Given the description of an element on the screen output the (x, y) to click on. 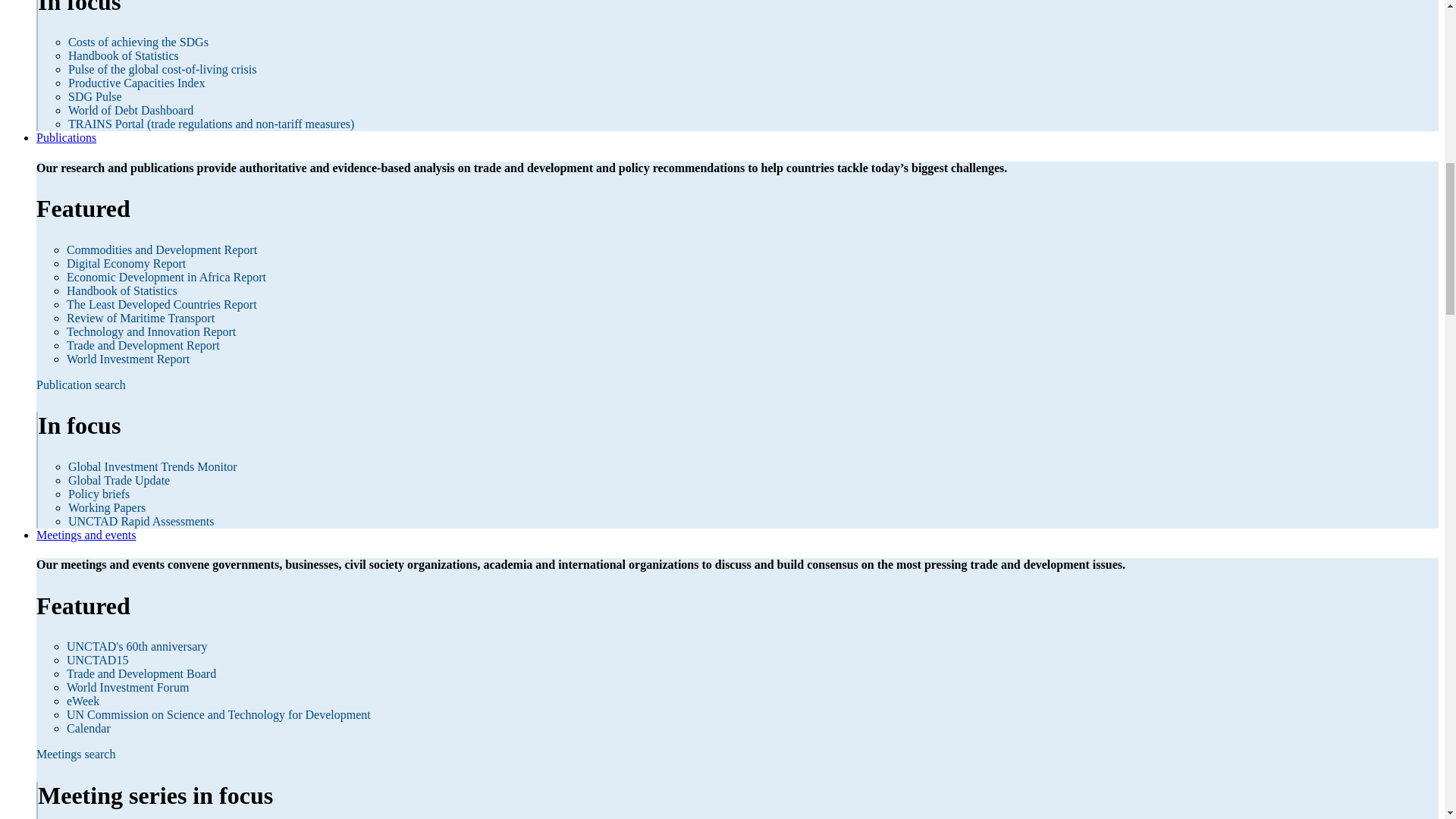
Handbook of Statistics (123, 55)
Costs of achieving the SDGs (138, 42)
